Given the description of an element on the screen output the (x, y) to click on. 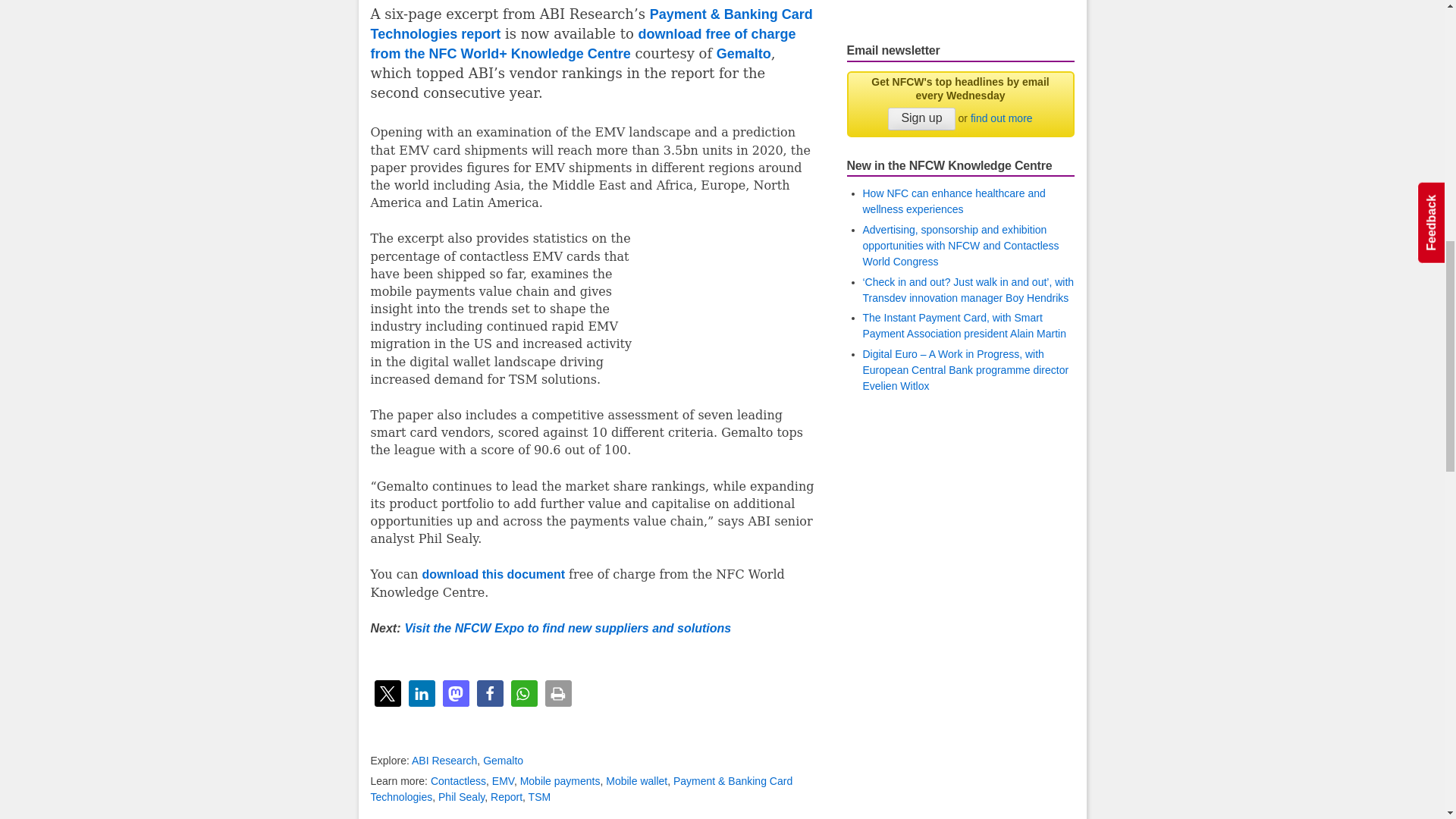
Share on LinkedIn (420, 693)
228 more items that mention Gemalto (502, 760)
print (557, 693)
Share on Whatsapp (524, 693)
Share on Facebook (489, 693)
Share on X (387, 693)
Share on Mastodon (455, 693)
54 more items that mention ABI Research (444, 760)
